Given the description of an element on the screen output the (x, y) to click on. 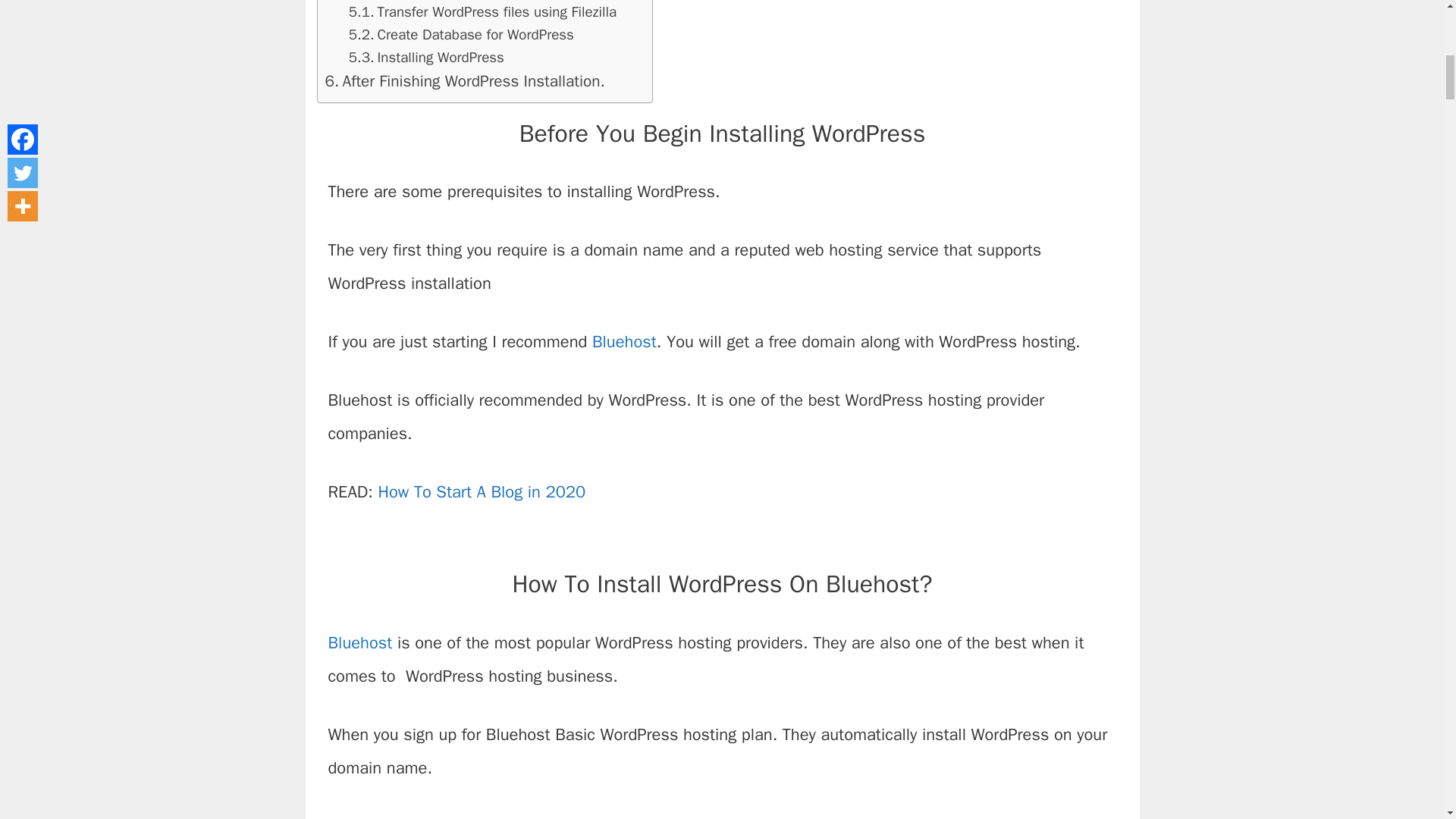
Installing WordPress (426, 56)
Create Database for WordPress (461, 34)
Create Database for WordPress (461, 34)
Transfer WordPress files using Filezilla (482, 11)
After Finishing WordPress Installation. (464, 81)
Bluehost (533, 817)
Transfer WordPress files using Filezilla (482, 11)
Bluehost (359, 642)
Installing WordPress (426, 56)
How To Start A Blog in 2020 (481, 491)
Bluehost (624, 341)
After Finishing WordPress Installation. (464, 81)
